Given the description of an element on the screen output the (x, y) to click on. 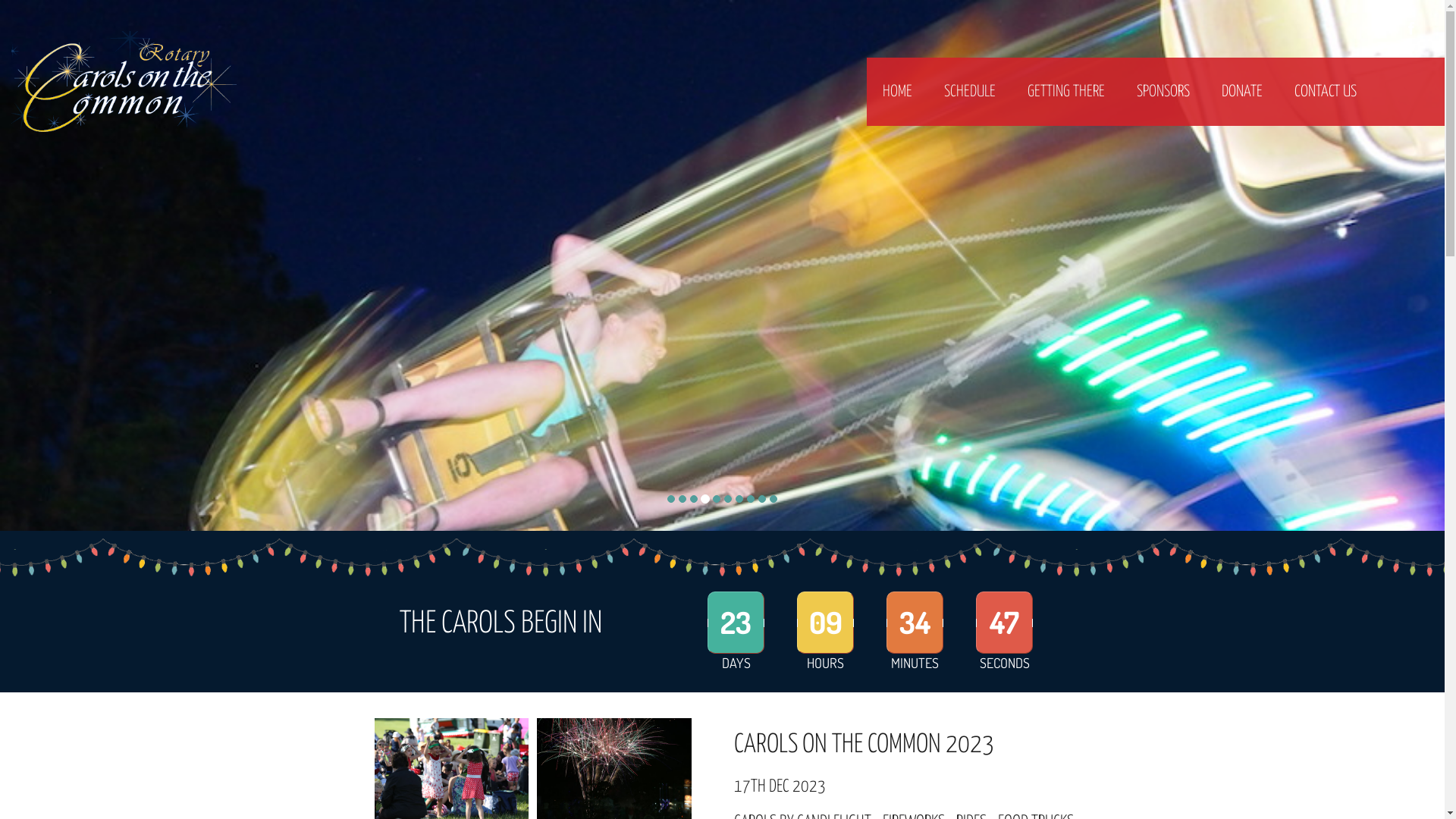
SPONSORS Element type: text (1162, 91)
SCHEDULE Element type: text (969, 91)
DONATE Element type: text (1241, 91)
CONTACT US Element type: text (1325, 91)
GETTING THERE Element type: text (1065, 91)
HOME Element type: text (897, 91)
